Given the description of an element on the screen output the (x, y) to click on. 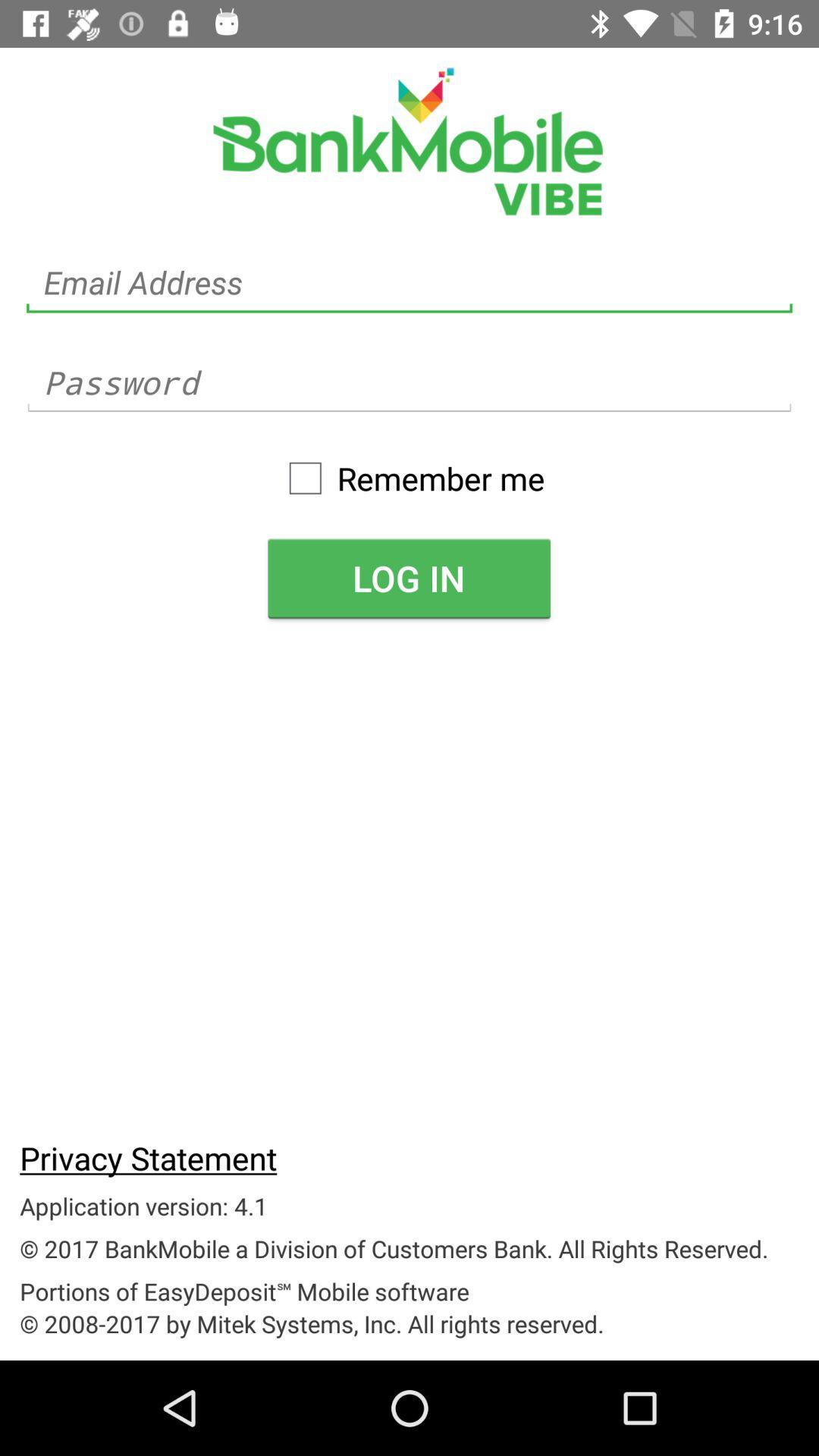
enter email address (409, 282)
